Given the description of an element on the screen output the (x, y) to click on. 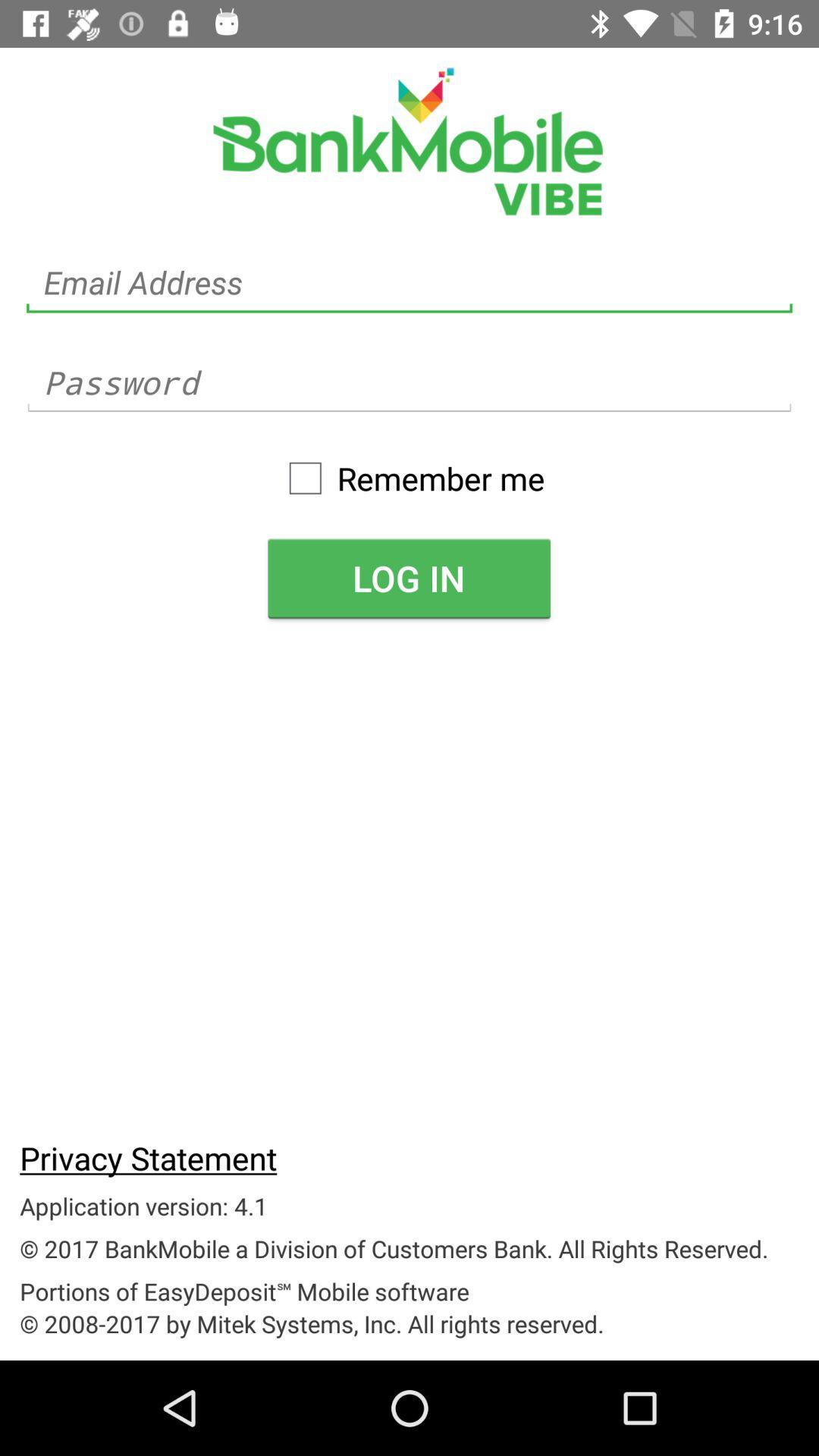
enter email address (409, 282)
